Given the description of an element on the screen output the (x, y) to click on. 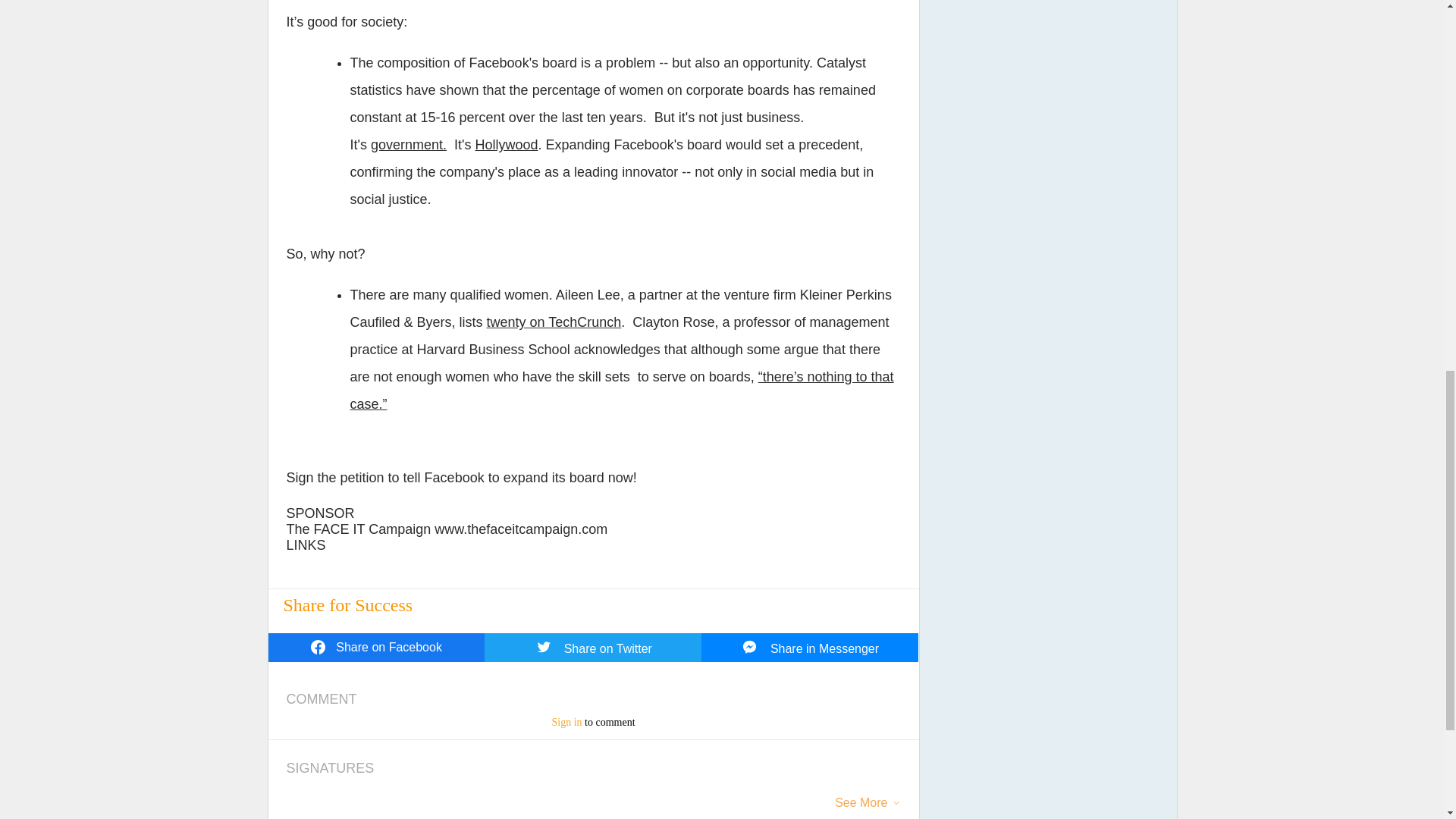
Sign in (565, 722)
Share in Messenger (809, 647)
twenty on TechCrunch (553, 322)
government. (408, 144)
Share on Facebook (375, 647)
See More (859, 804)
Hollywood (505, 144)
Share on Twitter (592, 647)
